Given the description of an element on the screen output the (x, y) to click on. 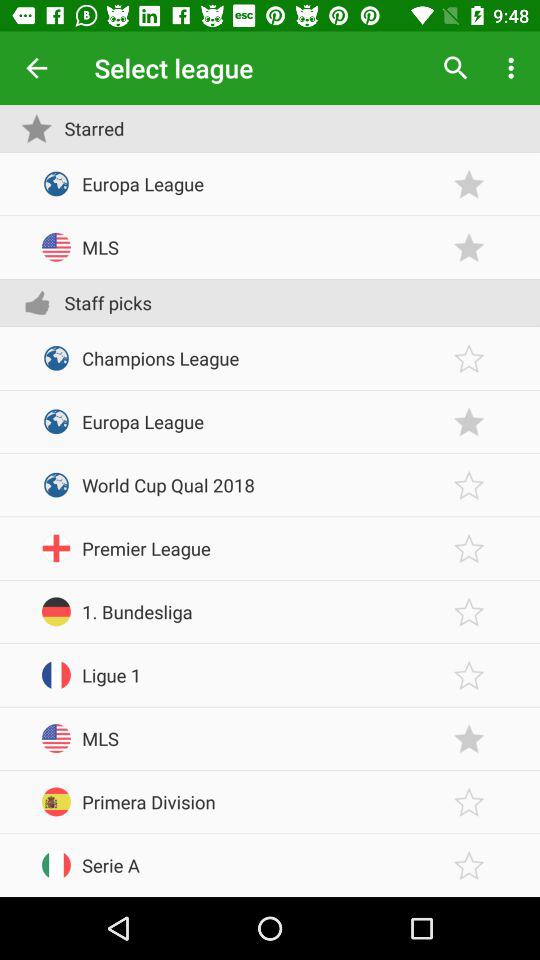
starred (469, 484)
